Given the description of an element on the screen output the (x, y) to click on. 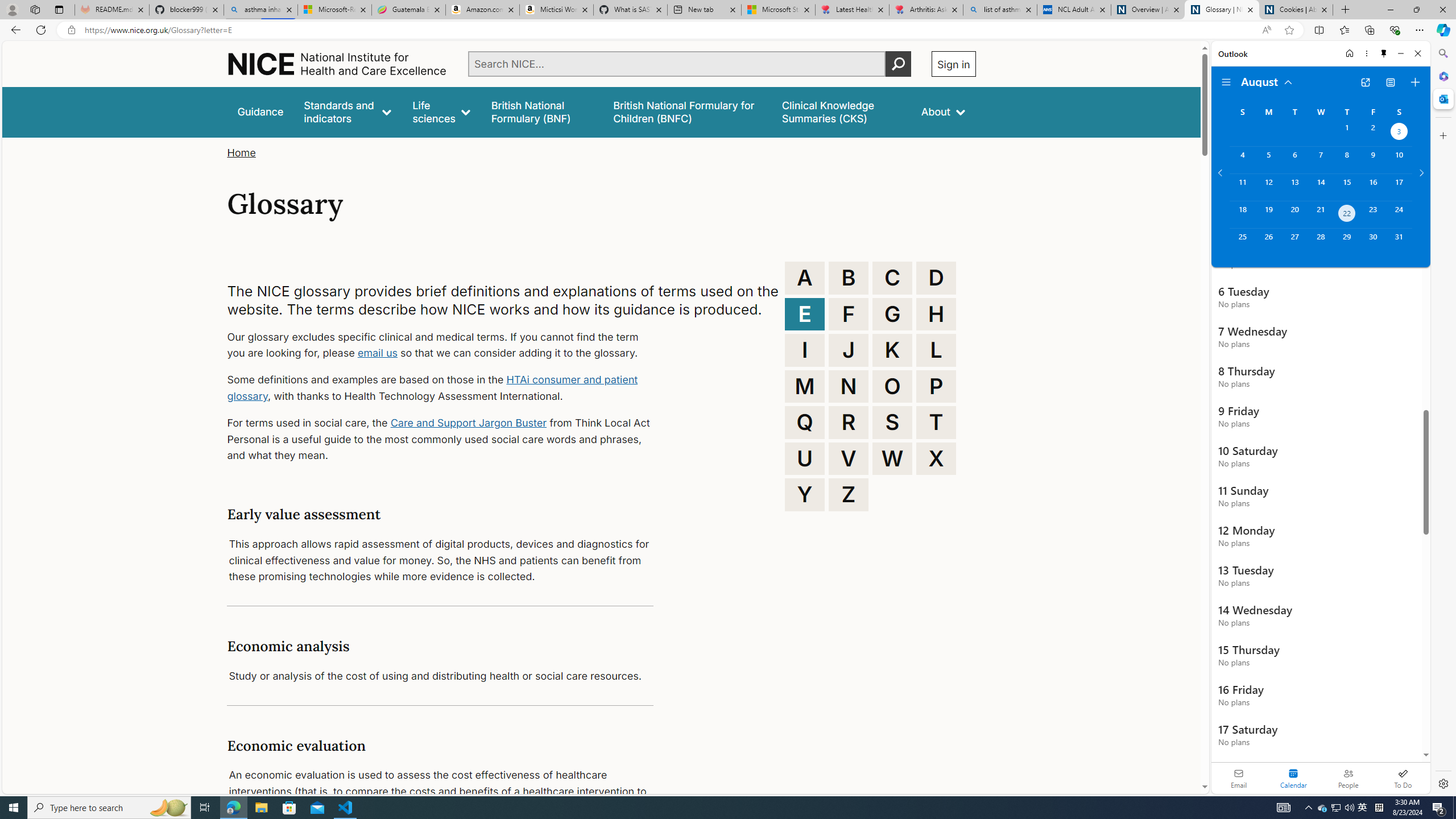
I (804, 350)
Cookies | About | NICE (1295, 9)
W (892, 458)
Close Customize pane (1442, 135)
Workspaces (34, 9)
X (935, 458)
Wednesday, August 14, 2024.  (1320, 186)
T (935, 422)
V (848, 458)
Saturday, August 31, 2024.  (1399, 241)
Microsoft-Report a Concern to Bing (334, 9)
P (935, 385)
Sunday, August 25, 2024.  (1242, 241)
App bar (728, 29)
